Given the description of an element on the screen output the (x, y) to click on. 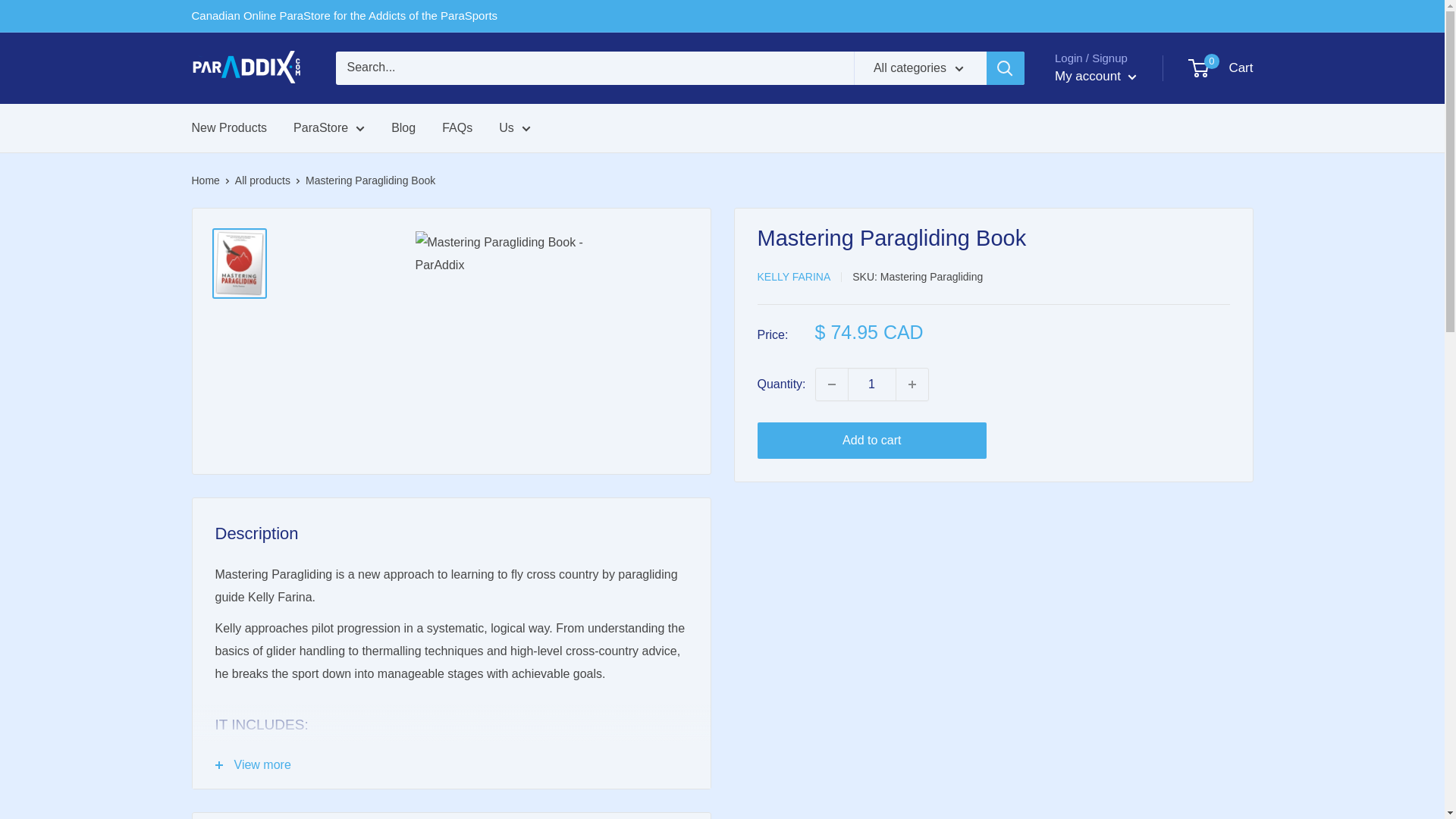
1 (871, 384)
Increase quantity by 1 (912, 384)
Decrease quantity by 1 (831, 384)
